Given the description of an element on the screen output the (x, y) to click on. 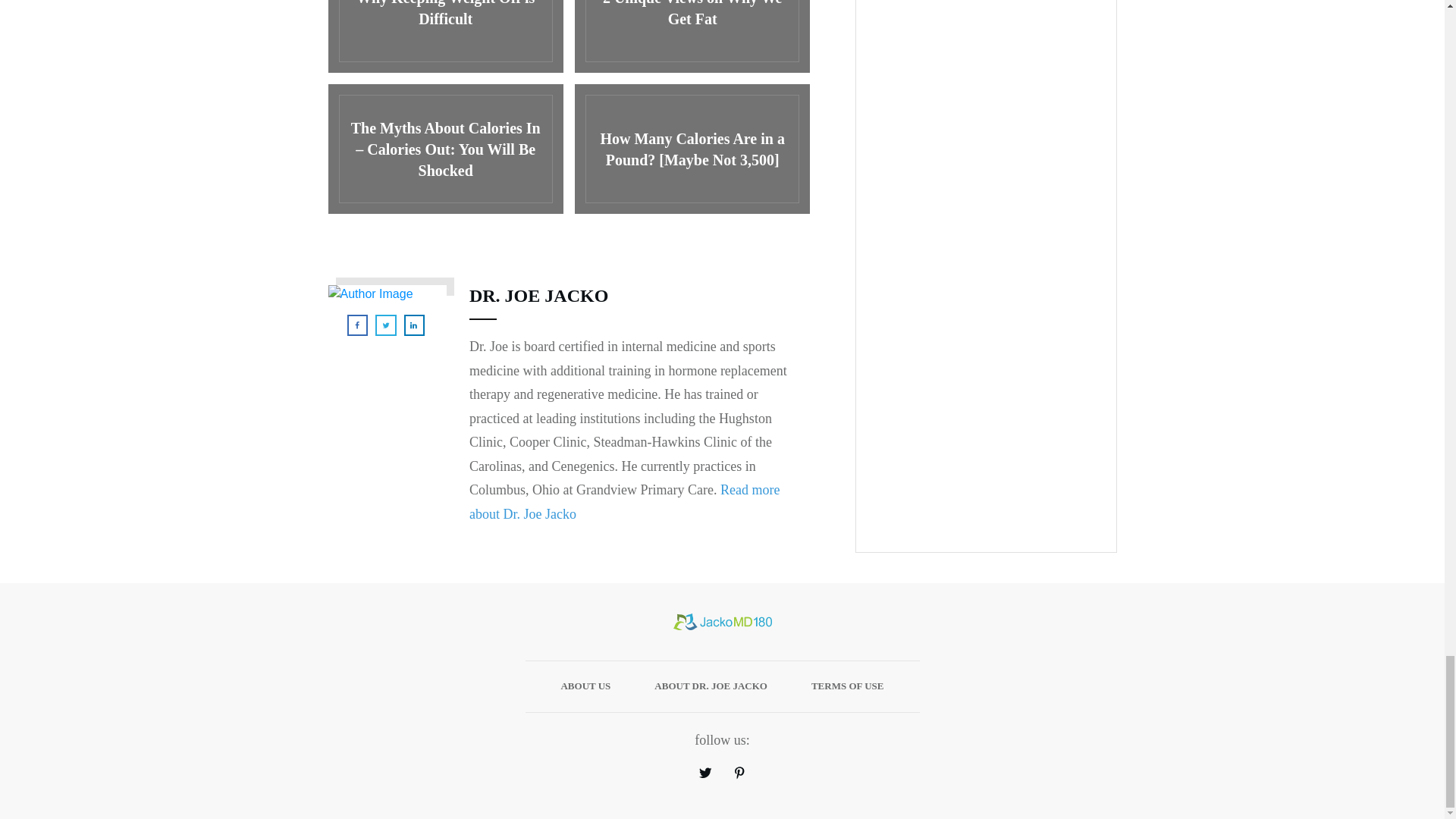
2 Unique Views on Why We Get Fat (692, 36)
Why Keeping Weight Off is Difficult (444, 36)
